Given the description of an element on the screen output the (x, y) to click on. 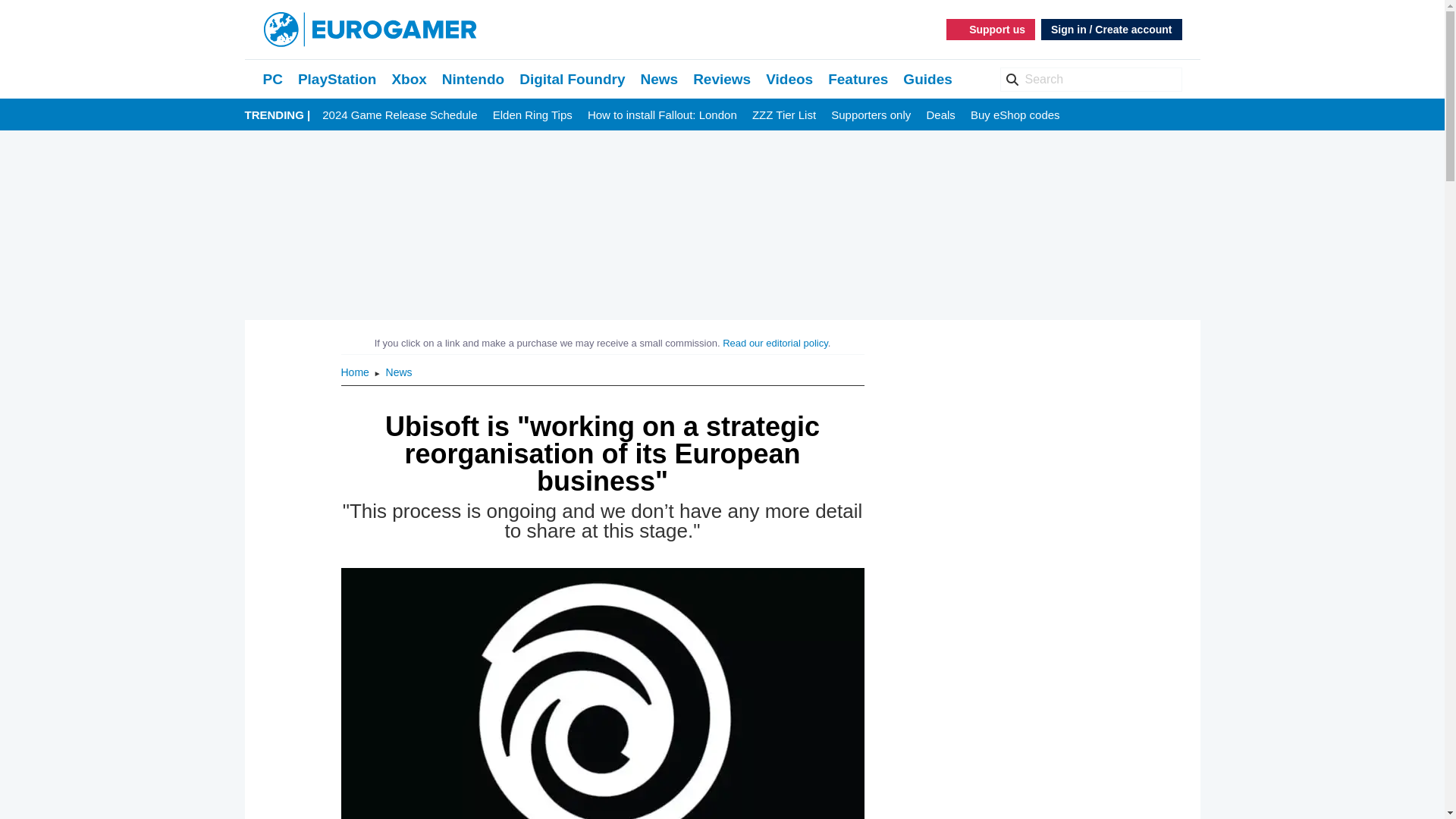
PC (272, 78)
Nintendo (472, 78)
News (659, 78)
ZZZ Tier List (783, 114)
Guides (927, 78)
Deals (940, 114)
Guides (927, 78)
Digital Foundry (571, 78)
Supporters only (871, 114)
PlayStation (336, 78)
Supporters only (871, 114)
PC (272, 78)
PlayStation (336, 78)
Videos (788, 78)
Xbox (408, 78)
